Given the description of an element on the screen output the (x, y) to click on. 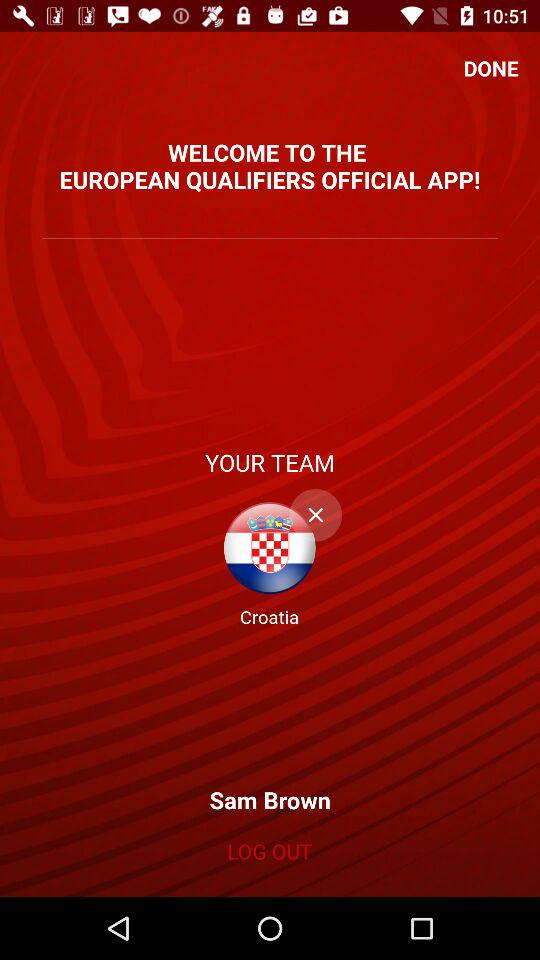
collapse team (315, 515)
